Given the description of an element on the screen output the (x, y) to click on. 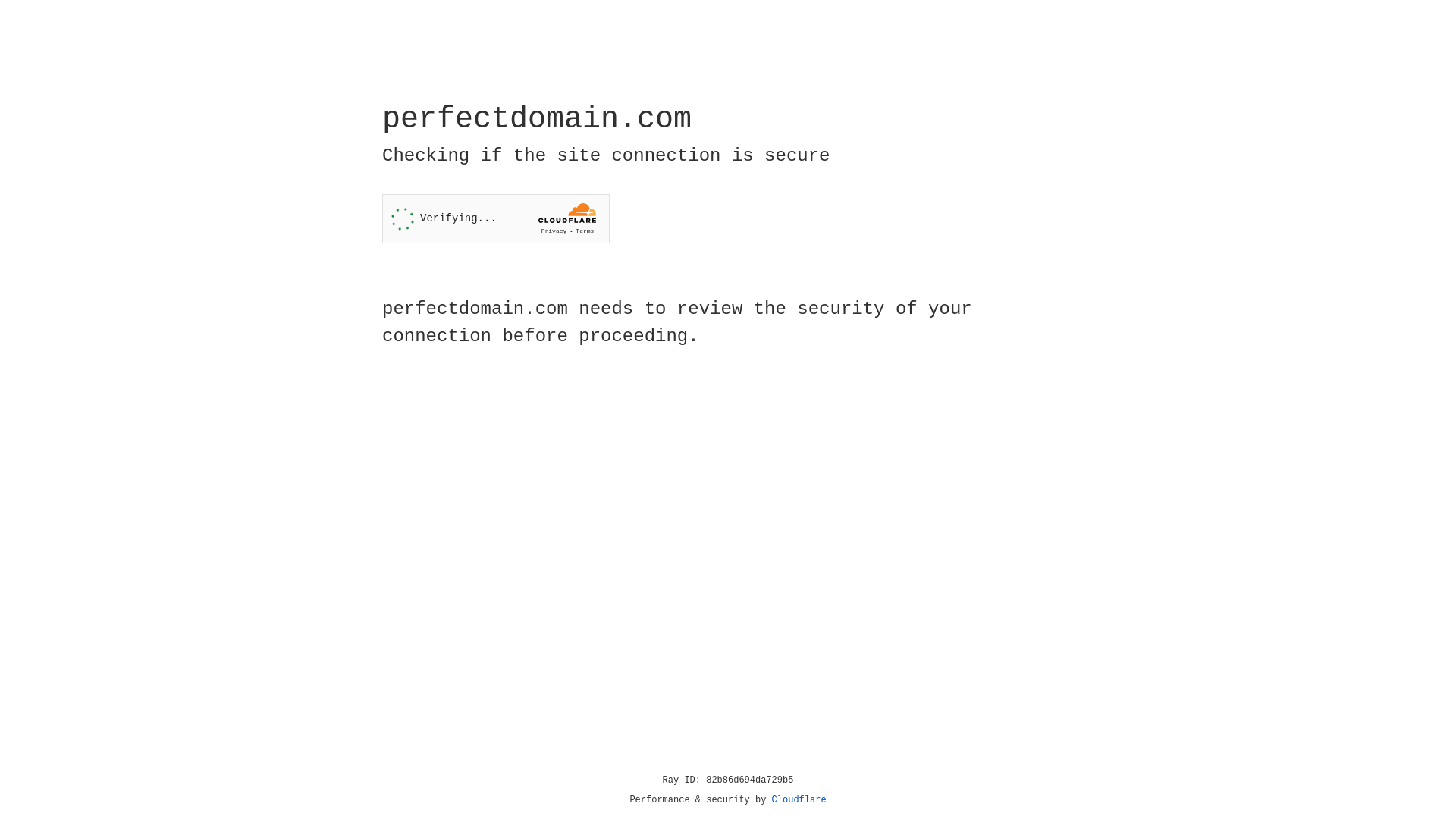
Cloudflare Element type: text (798, 799)
Widget containing a Cloudflare security challenge Element type: hover (495, 218)
